Given the description of an element on the screen output the (x, y) to click on. 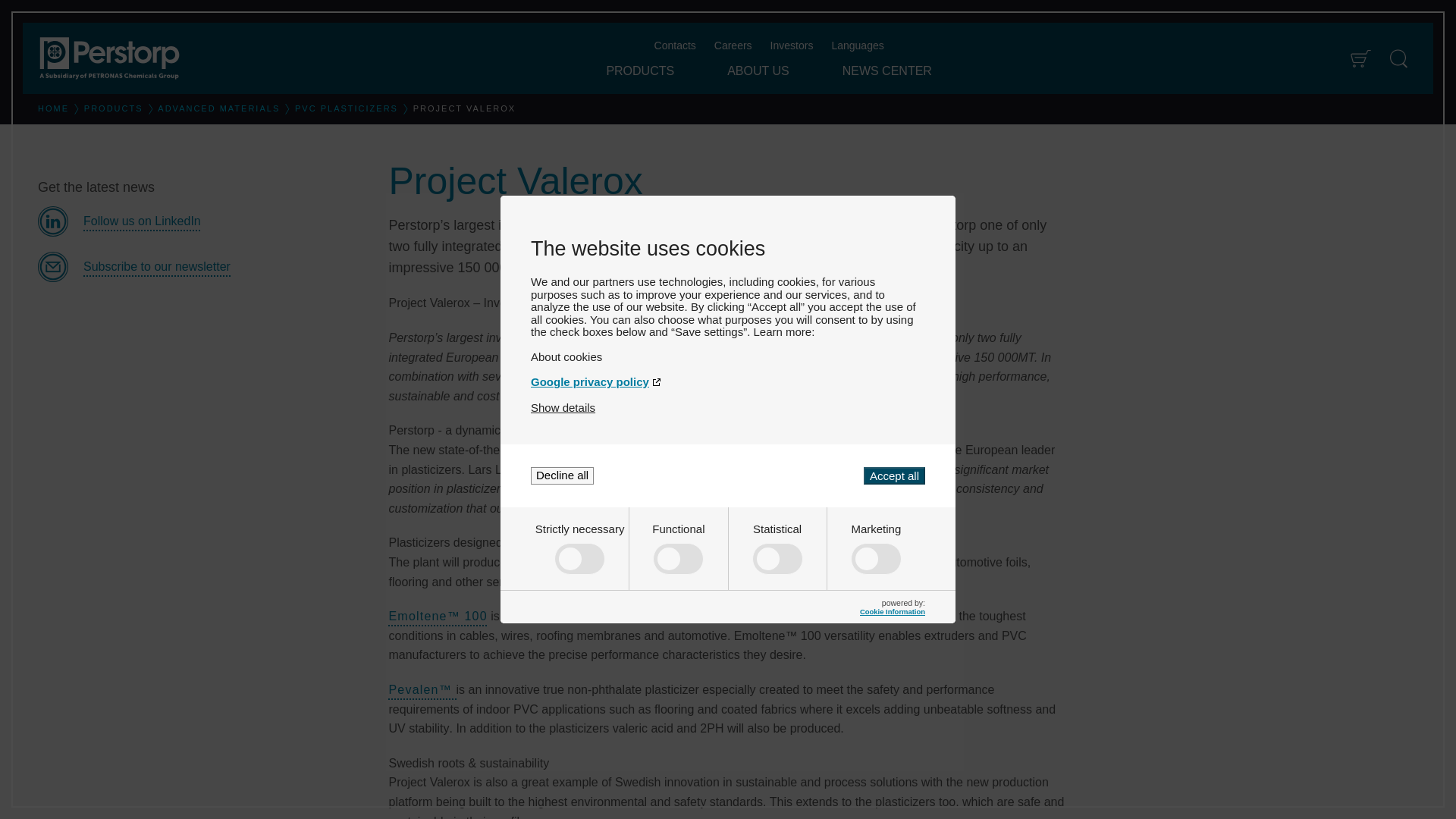
Show details (563, 407)
Decline all (562, 475)
LinkedIn (201, 221)
Cookie Information (892, 611)
Google privacy policy (727, 381)
About cookies (727, 356)
Accept all (893, 475)
